Given the description of an element on the screen output the (x, y) to click on. 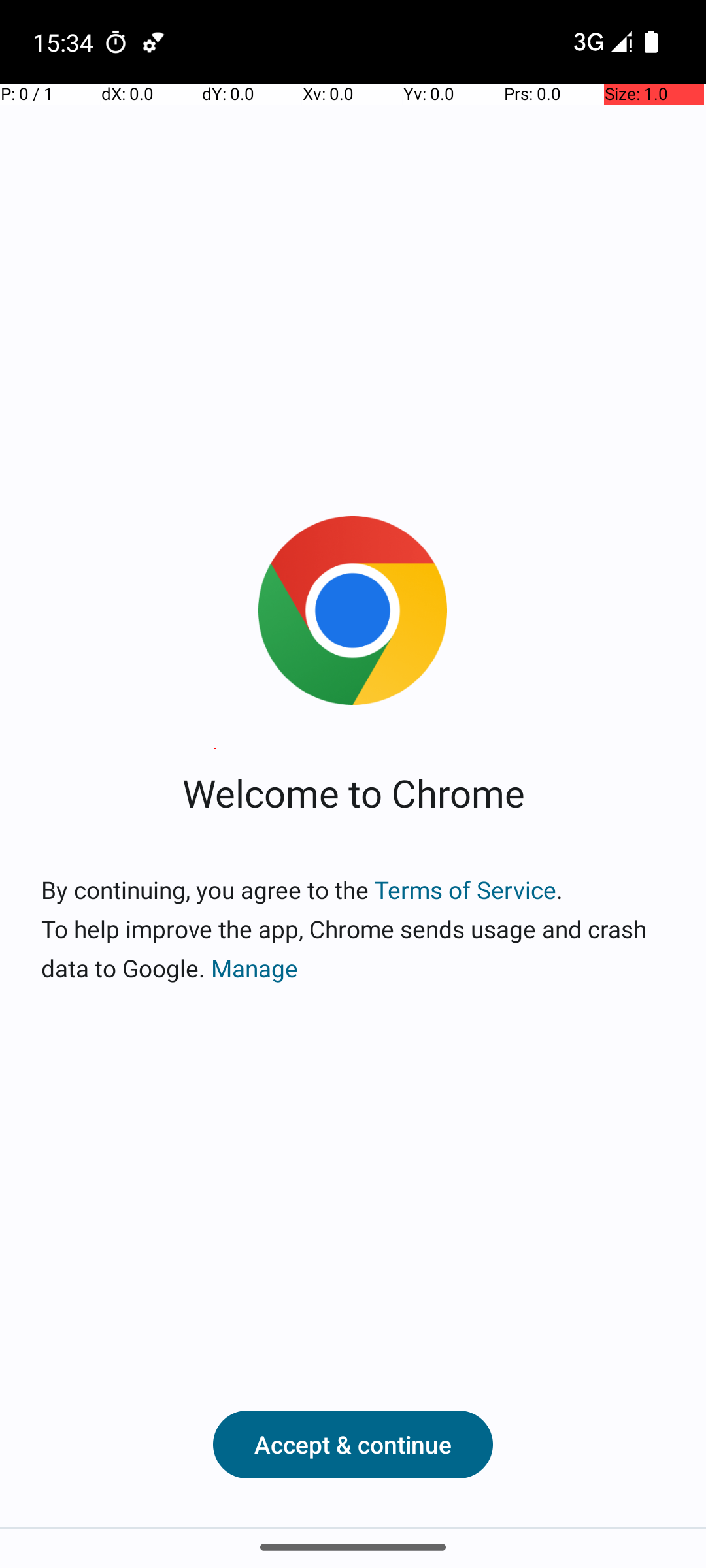
Android System notification: Wi‑Fi will turn on automatically Element type: android.widget.ImageView (153, 41)
